Given the description of an element on the screen output the (x, y) to click on. 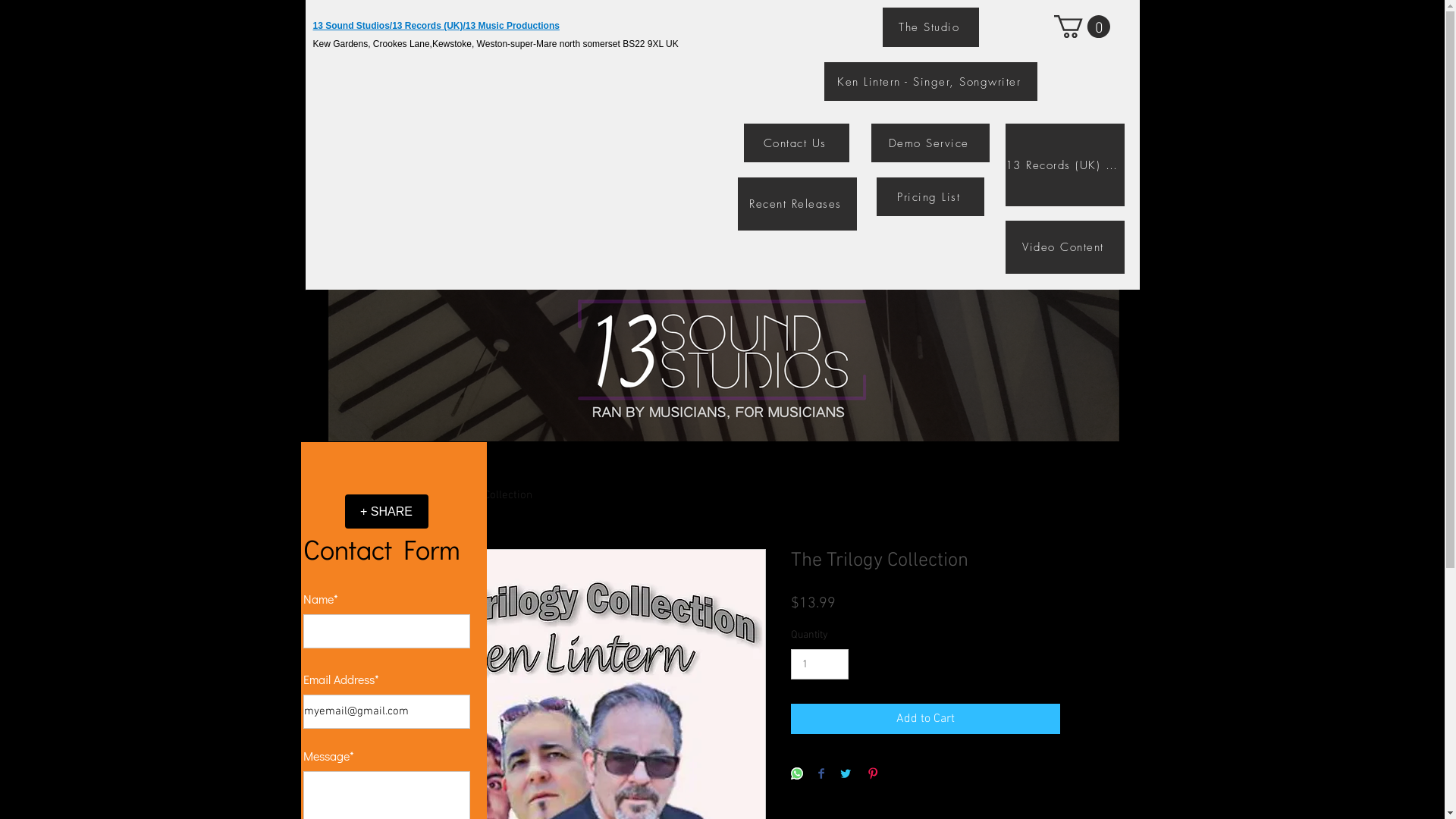
13 Sound Studios/13 Records (UK)/13 Music Productions Element type: text (435, 25)
Ken Lintern - Singer, Songwriter Element type: text (929, 81)
Recent Releases Element type: text (796, 203)
Demo Service Element type: text (929, 142)
+ SHARE Element type: text (385, 511)
The Studio Element type: text (930, 27)
13 Records (UK) and 13 Records Music Store Element type: text (1064, 164)
Add to Cart Element type: text (924, 718)
Video Content Element type: text (1064, 246)
0 Element type: text (1082, 26)
Pricing List Element type: text (930, 196)
The Trilogy Collection Element type: text (477, 495)
Facebook Like Element type: hover (388, 476)
Contact Us Element type: text (795, 142)
Home Element type: text (399, 495)
